Given the description of an element on the screen output the (x, y) to click on. 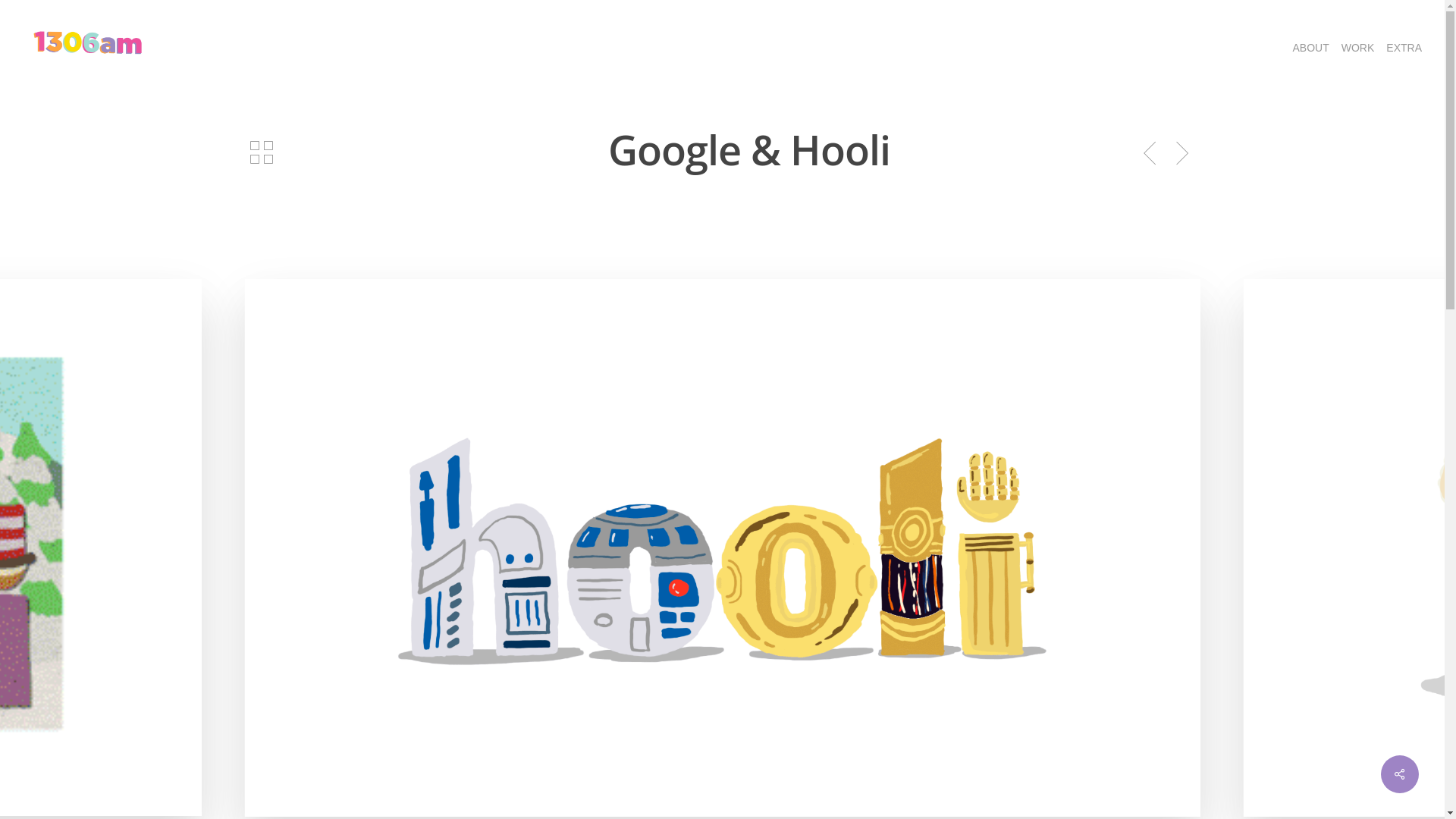
WORK Element type: text (1357, 47)
EXTRA Element type: text (1403, 47)
Back to all projects Element type: hover (261, 152)
ABOUT Element type: text (1310, 47)
